Given the description of an element on the screen output the (x, y) to click on. 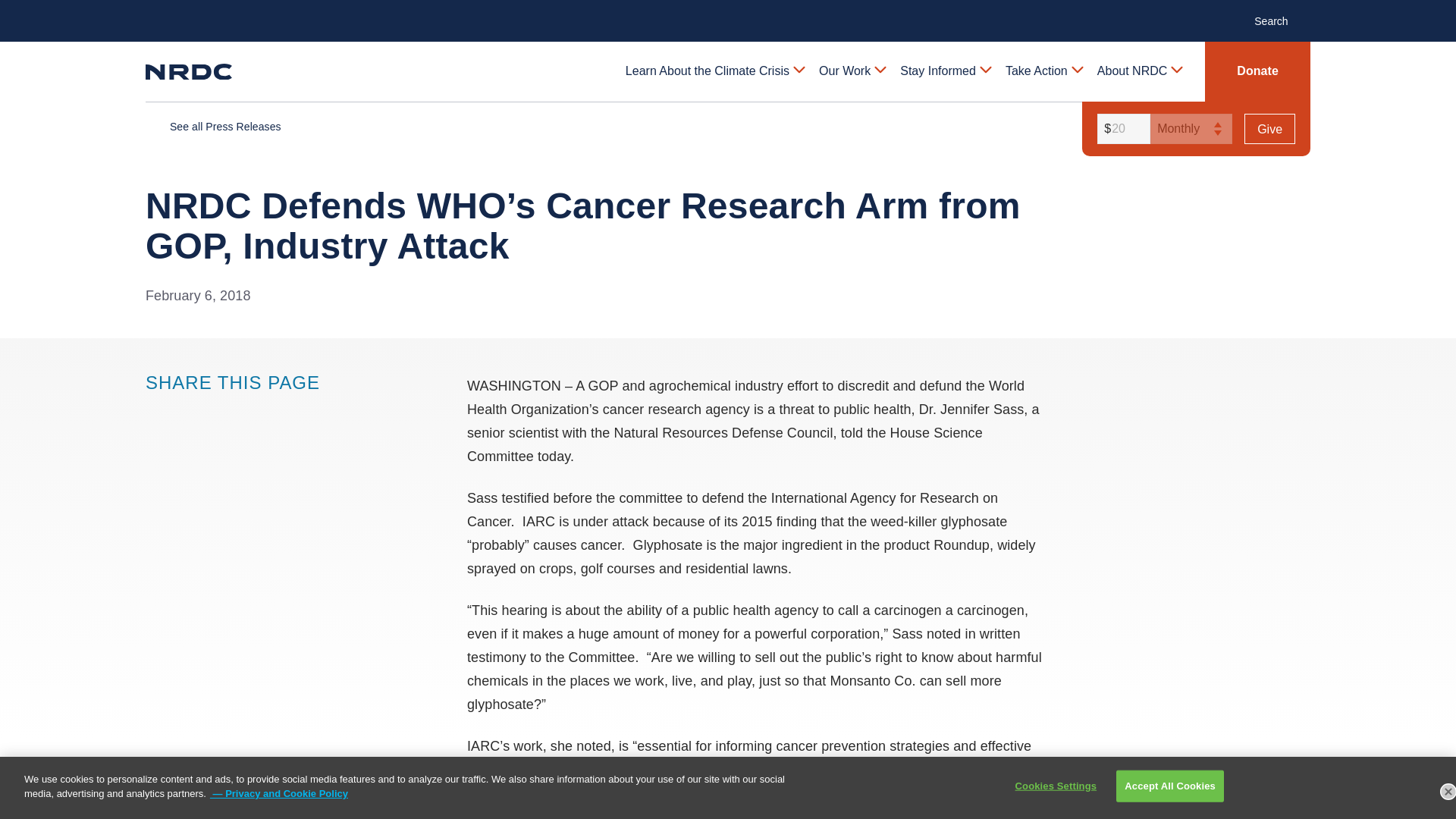
20 (1120, 128)
Share this page block (186, 411)
Skip to main content (727, 12)
Search (1278, 19)
Our Work (850, 71)
Learn About the Climate Crisis (714, 71)
Stay Informed (944, 71)
Share this page block (216, 411)
Share this page block (156, 411)
